Given the description of an element on the screen output the (x, y) to click on. 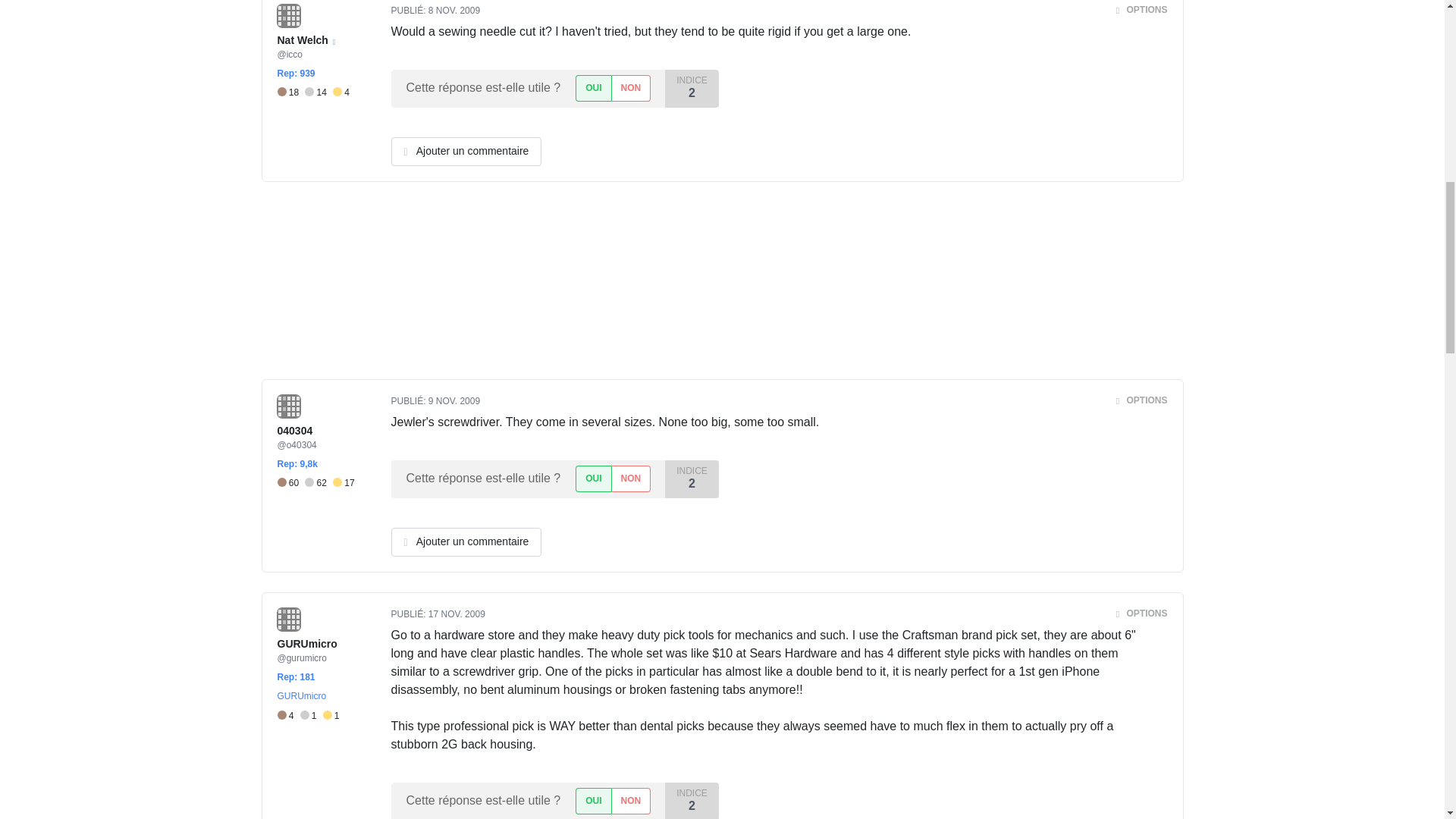
Sun, 08 Nov 2009 23:57:19 -0700 (454, 9)
17 badges Or (344, 482)
18 badges Bronze (291, 92)
14 badges Argent (318, 92)
62 badges Argent (318, 482)
4 badges Or (341, 92)
60 badges Bronze (291, 482)
